Given the description of an element on the screen output the (x, y) to click on. 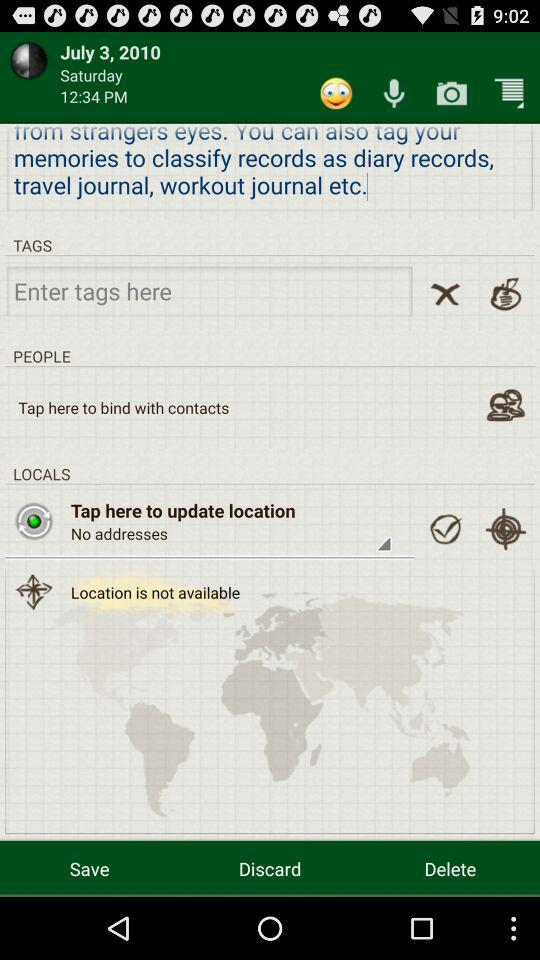
update location (34, 521)
